Given the description of an element on the screen output the (x, y) to click on. 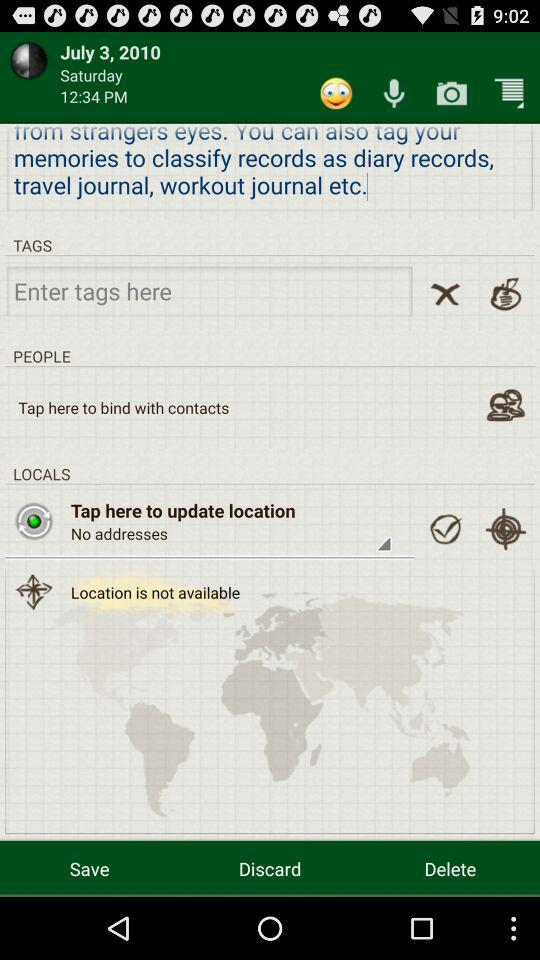
update location (34, 521)
